Given the description of an element on the screen output the (x, y) to click on. 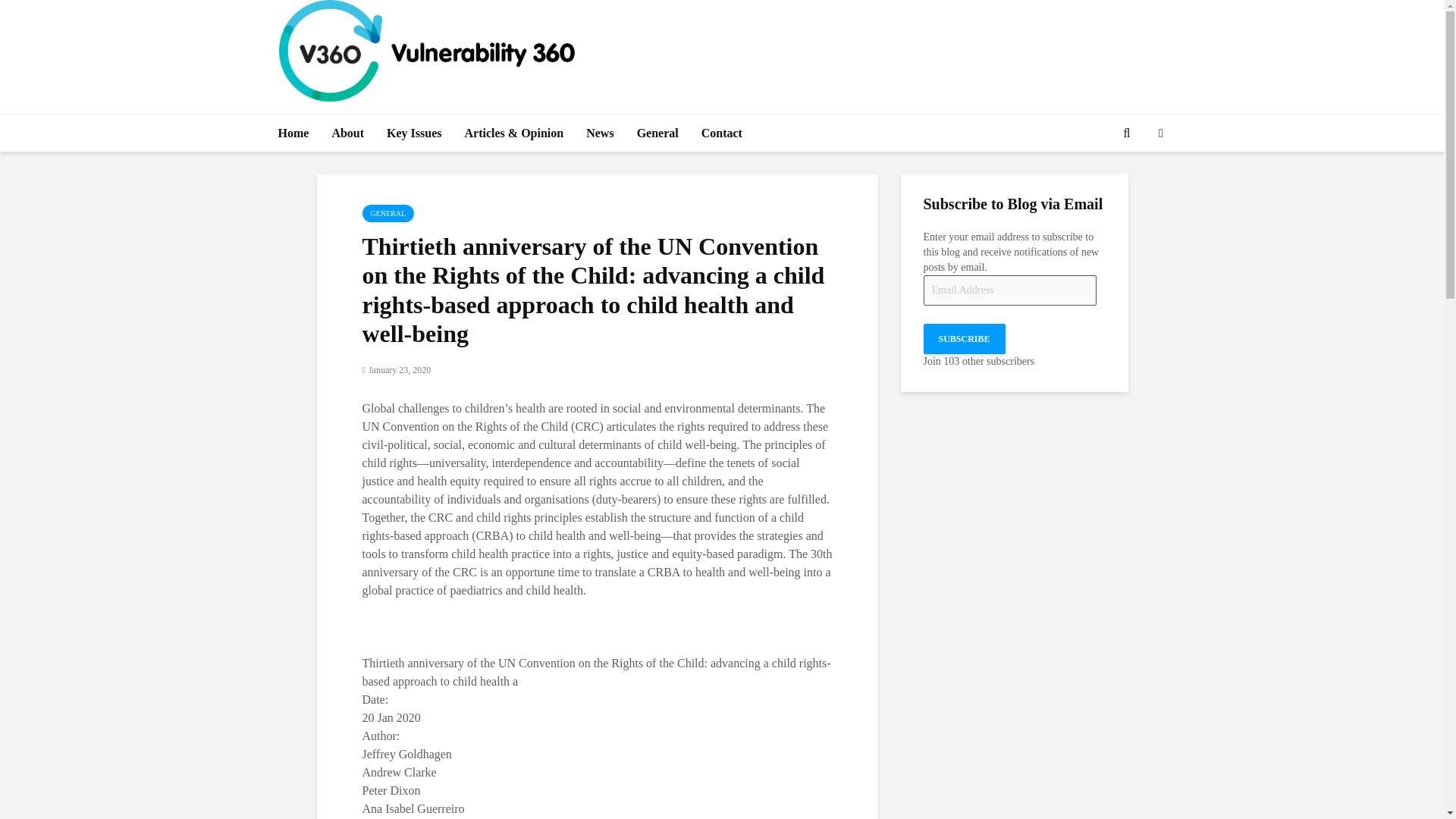
Home (293, 133)
Contact (722, 133)
News (599, 133)
Key Issues (413, 133)
About (347, 133)
GENERAL (388, 212)
General (658, 133)
